Given the description of an element on the screen output the (x, y) to click on. 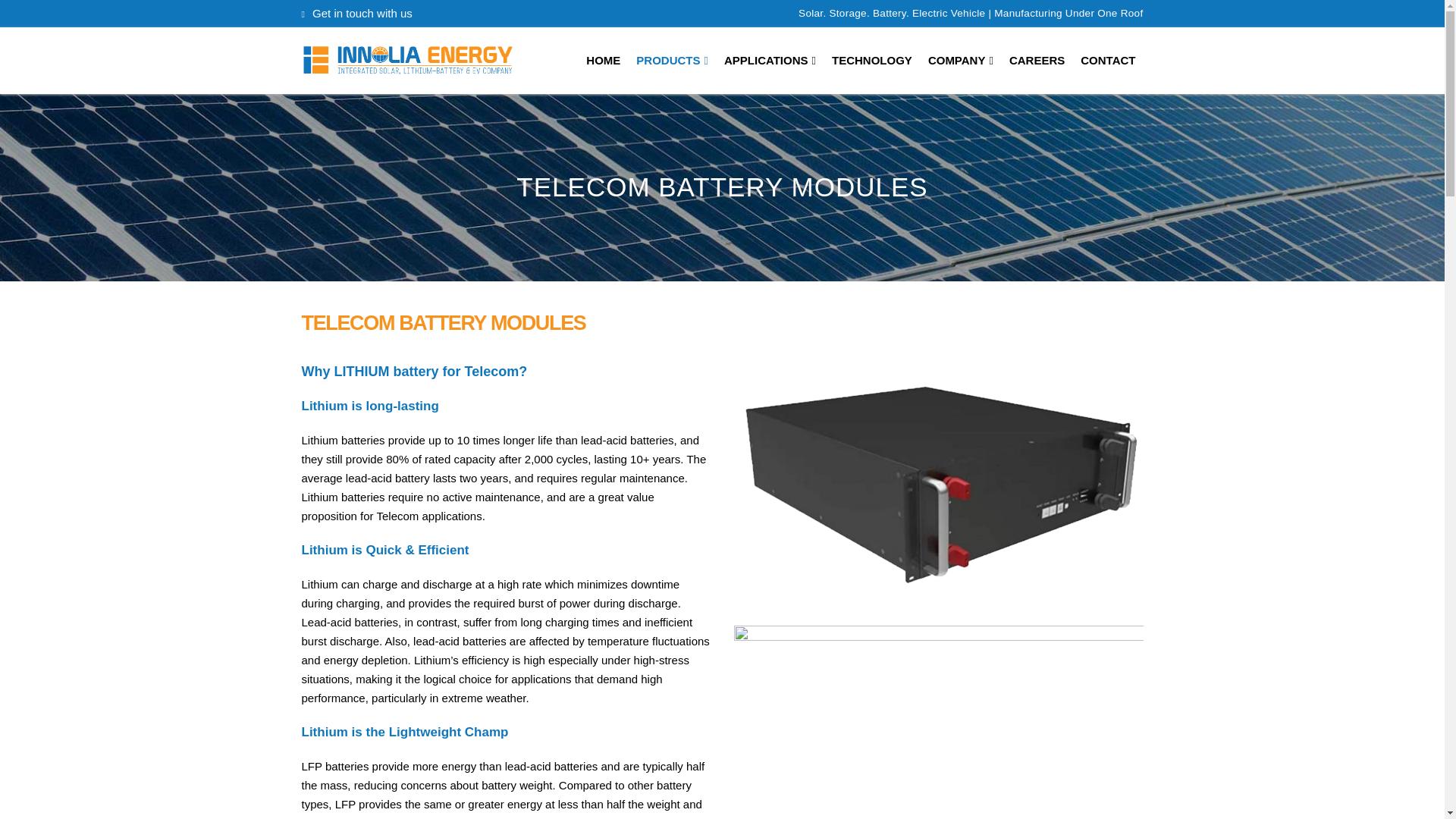
HOME (602, 60)
Get in touch with us (360, 13)
PRODUCTS (672, 60)
Innolia Energy - Solar, Lithium Battery and EV company (407, 60)
